Given the description of an element on the screen output the (x, y) to click on. 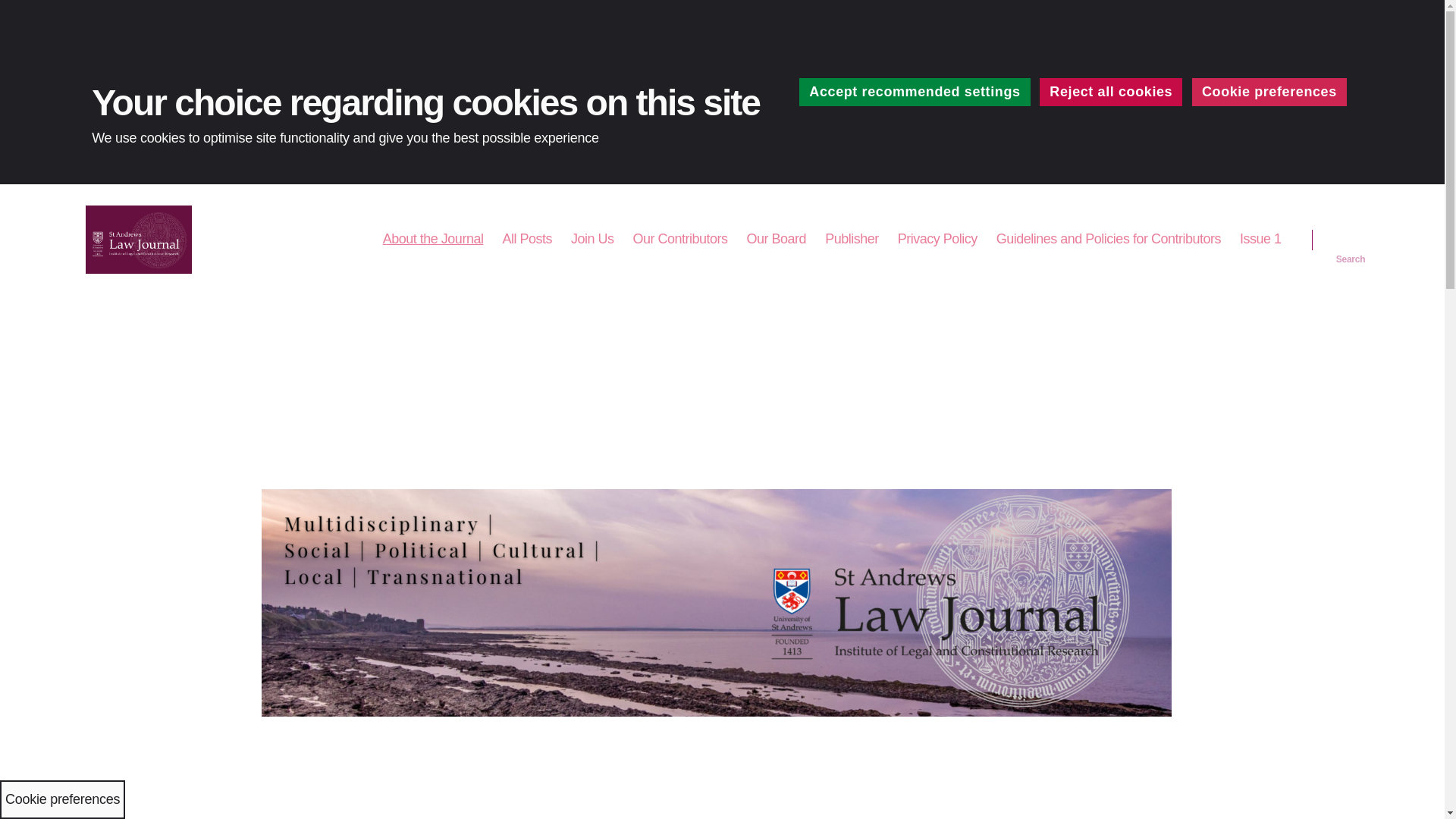
All Posts (526, 239)
Our Contributors (678, 239)
About the Journal (432, 239)
Publisher (852, 239)
Accept recommended settings (914, 91)
Issue 1 (1260, 239)
Cookie preferences (1269, 91)
Reject all cookies (1110, 91)
Search (1350, 239)
Privacy Policy (937, 239)
